Given the description of an element on the screen output the (x, y) to click on. 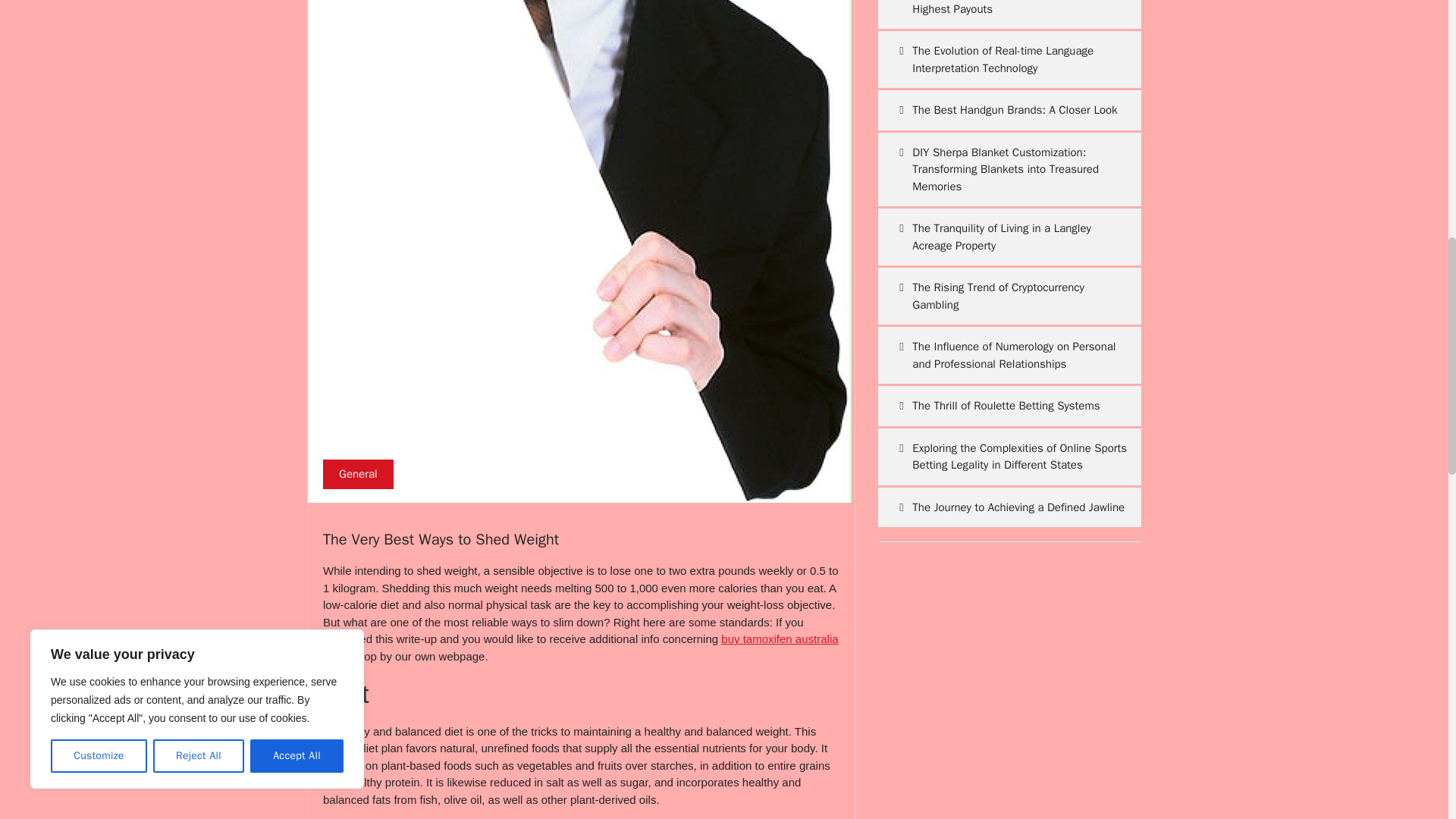
General (358, 474)
buy tamoxifen australia (779, 638)
